Given the description of an element on the screen output the (x, y) to click on. 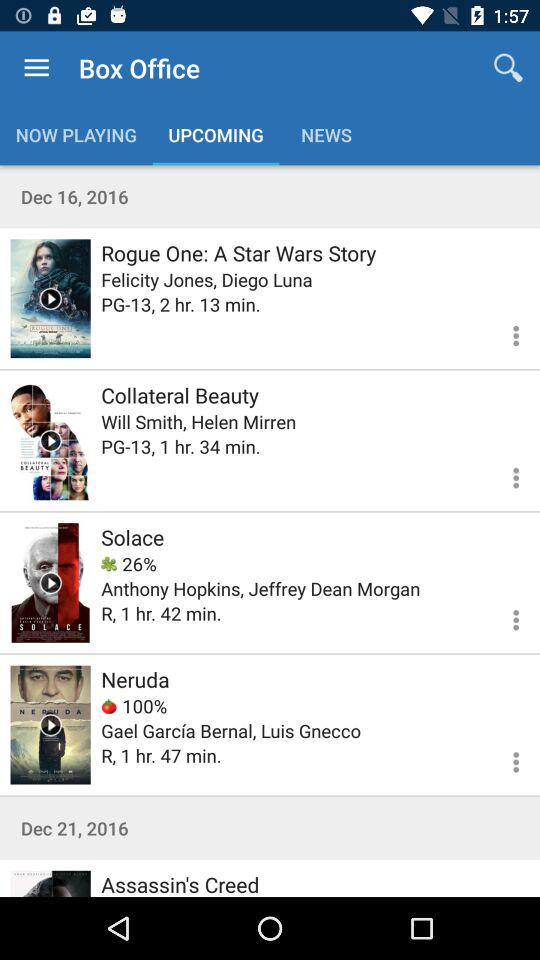
play assassin 's creed (50, 883)
